Given the description of an element on the screen output the (x, y) to click on. 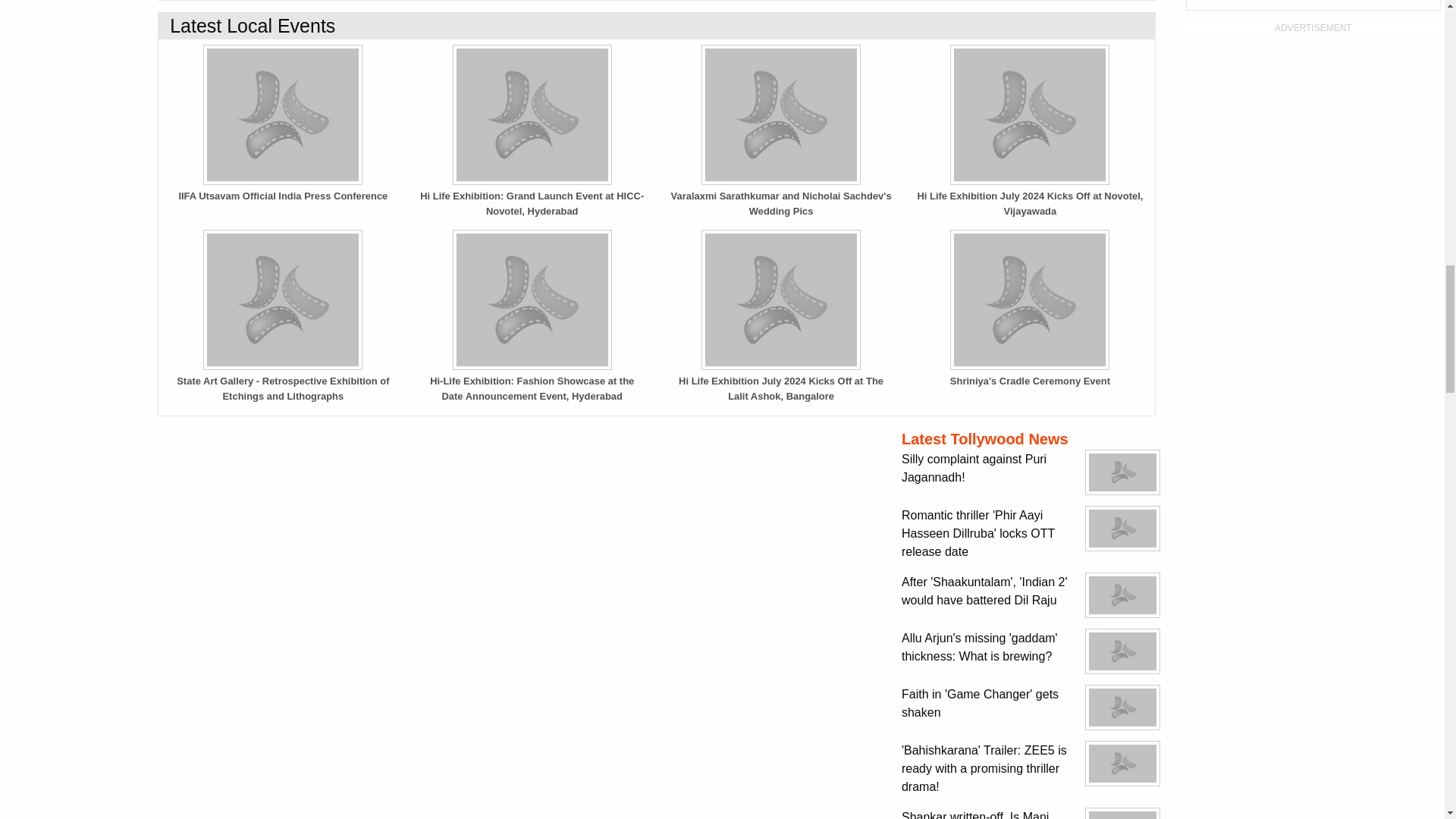
Allu Arjun's missing 'gaddam' thickness: What is brewing?  (1122, 651)
Varalaxmi Sarathkumar and Nicholai Sachdev's Wedding Pics (780, 114)
Silly complaint against Puri Jagannadh! (1122, 472)
Shriniya's Cradle Ceremony Event (1029, 299)
IIFA Utsavam Official India Press Conference (282, 114)
